Given the description of an element on the screen output the (x, y) to click on. 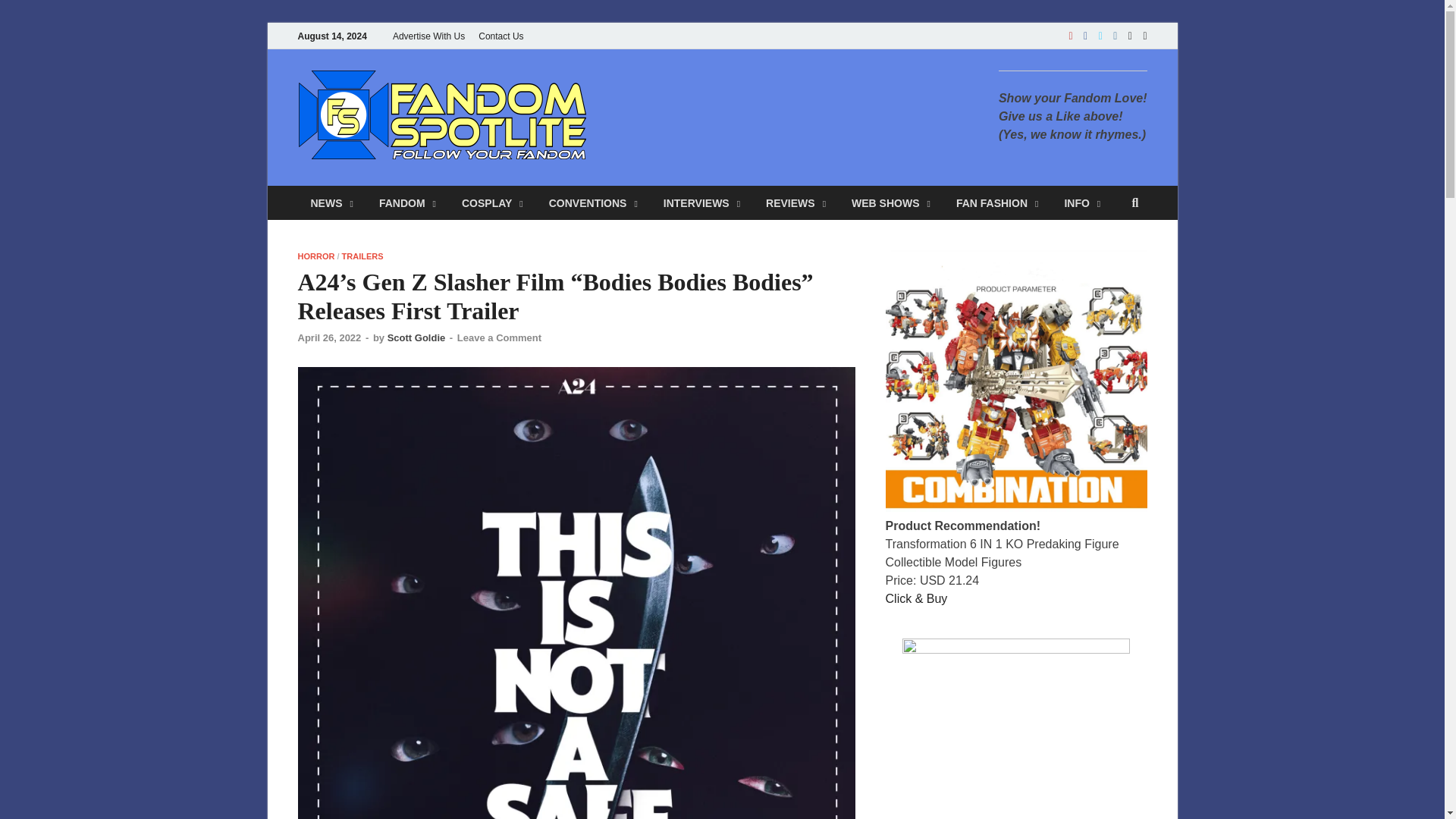
Advertise With Us (428, 35)
NEWS (331, 202)
Contact Us (500, 35)
Fandom Spotlite (703, 100)
FANDOM (407, 202)
